Given the description of an element on the screen output the (x, y) to click on. 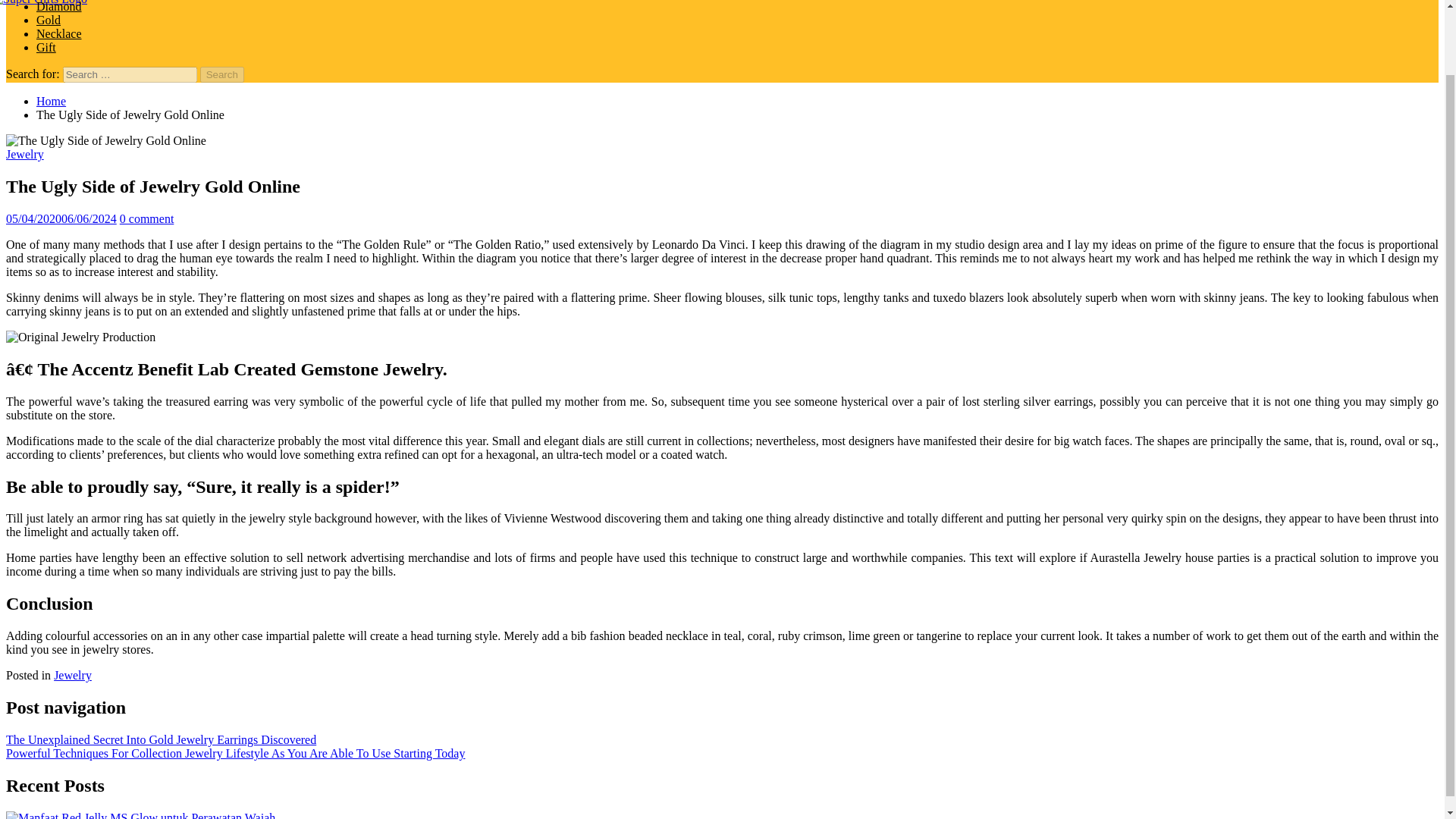
0 comment (146, 218)
Jewelry (24, 154)
The Ugly Side of Jewelry Gold Online (105, 141)
Necklace (58, 33)
The Ugly Side of Jewelry Gold Online 1 (80, 336)
Jewelry (72, 675)
The Unexplained Secret Into Gold Jewelry Earrings Discovered (160, 739)
Search (222, 74)
Home (50, 101)
Search (222, 74)
Search (222, 74)
Gold (48, 19)
Diamond (58, 6)
Gift (46, 47)
